Given the description of an element on the screen output the (x, y) to click on. 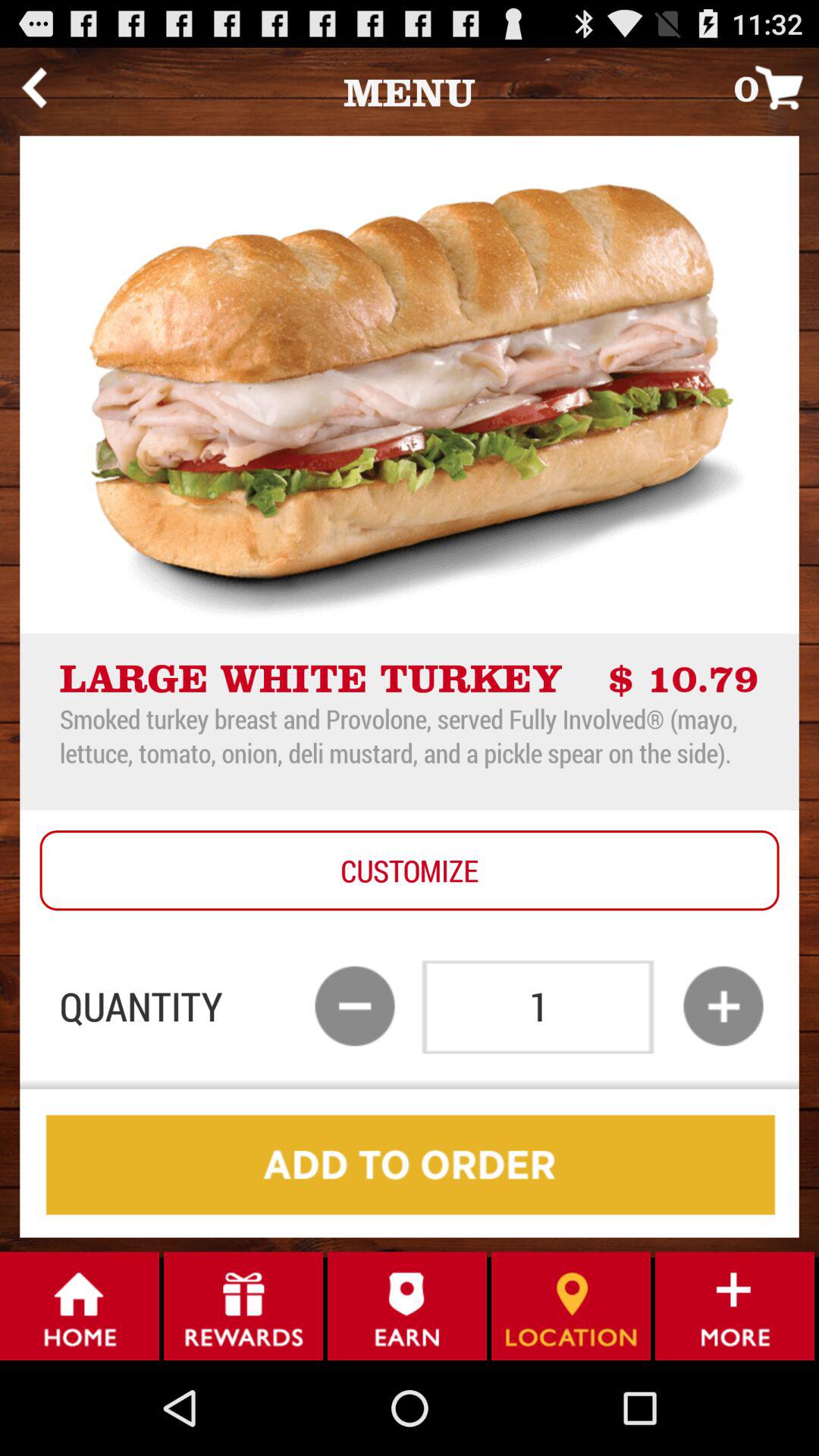
launch the icon below the customize (723, 1005)
